Given the description of an element on the screen output the (x, y) to click on. 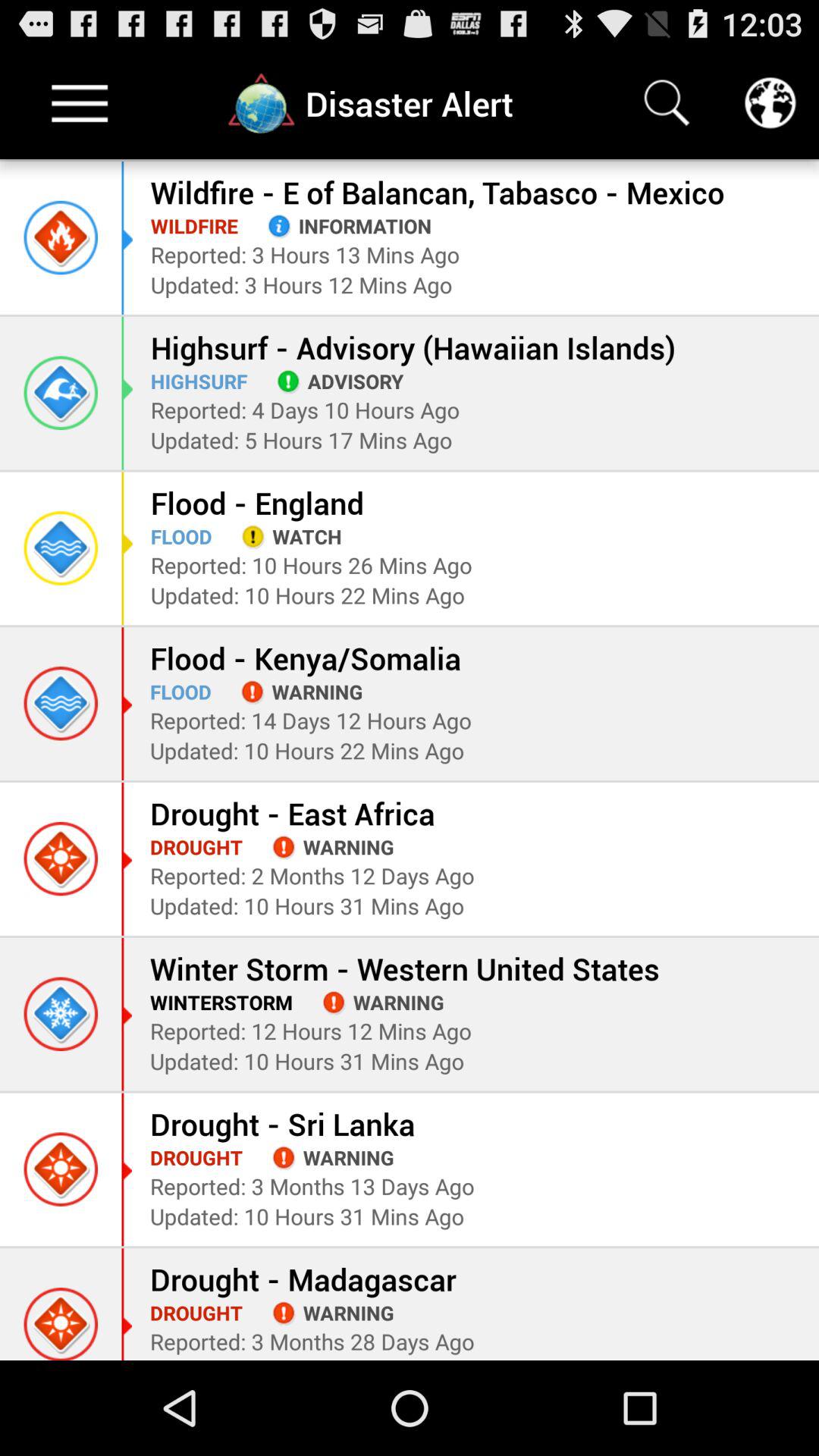
select the app menu (79, 103)
